Given the description of an element on the screen output the (x, y) to click on. 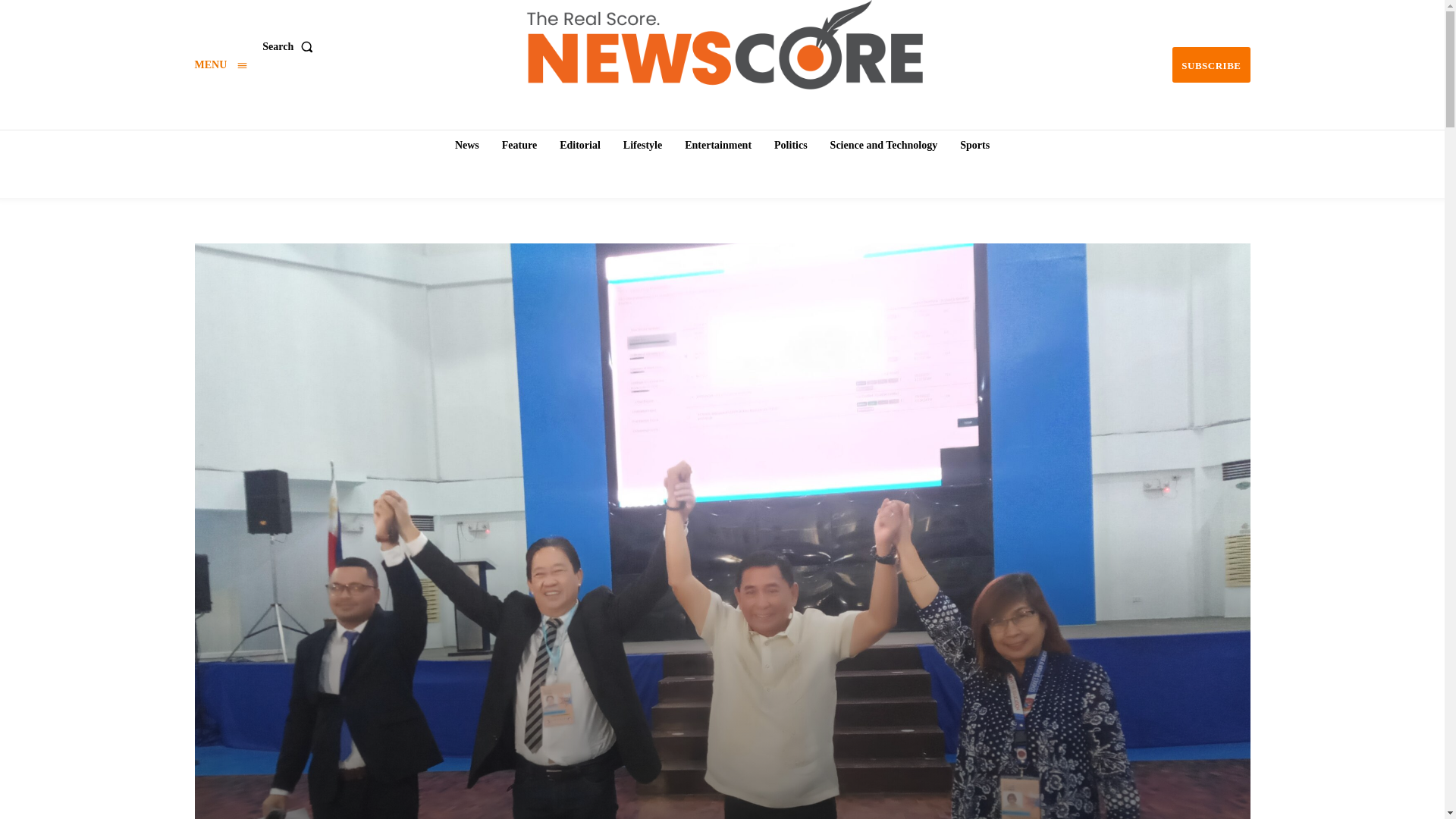
Feature (519, 145)
News (466, 145)
Menu (220, 64)
MENU (220, 64)
Subscribe (1210, 64)
SUBSCRIBE (1210, 64)
Search (290, 47)
